Given the description of an element on the screen output the (x, y) to click on. 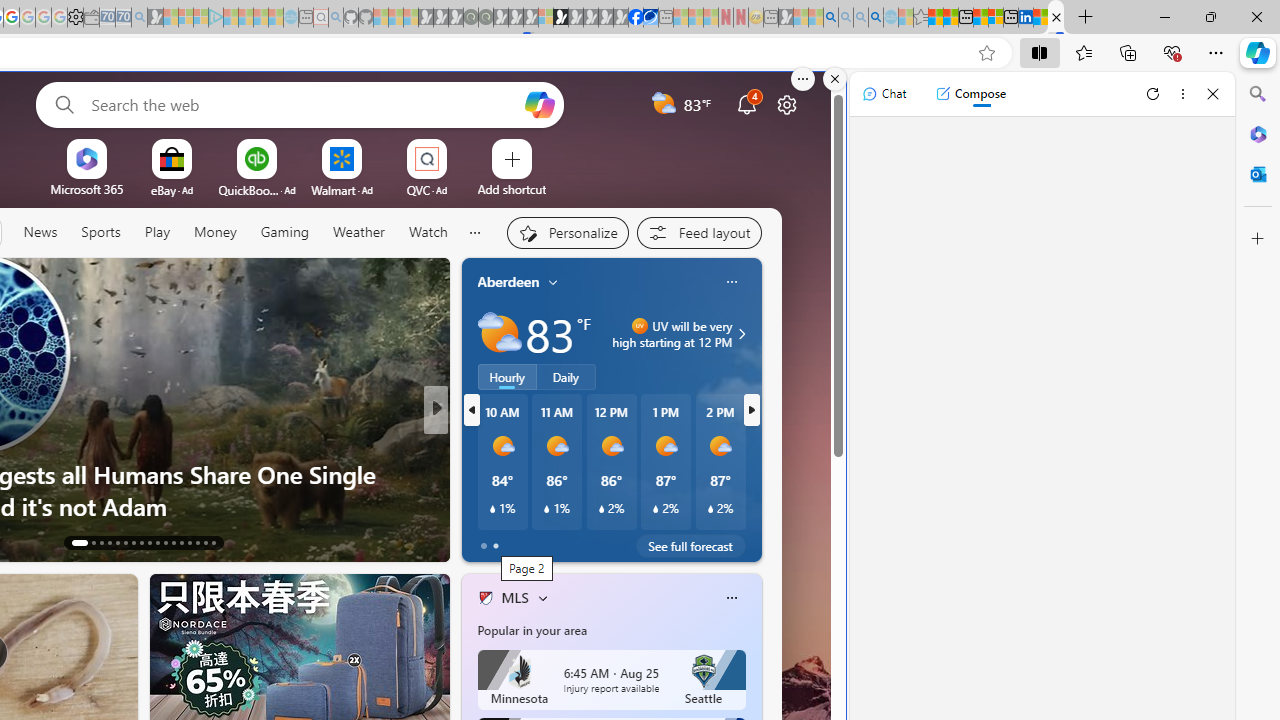
8 Things I Did to Lose 25 Pounds in 6 Months (758, 506)
View comments 543 Comment (579, 541)
Bing Real Estate - Home sales and rental listings - Sleeping (139, 17)
Close split screen. (835, 79)
Class: weather-arrow-glyph (742, 333)
AutomationID: tab-14 (87, 542)
AutomationID: tab-15 (101, 542)
View comments 2 Comment (568, 541)
